Given the description of an element on the screen output the (x, y) to click on. 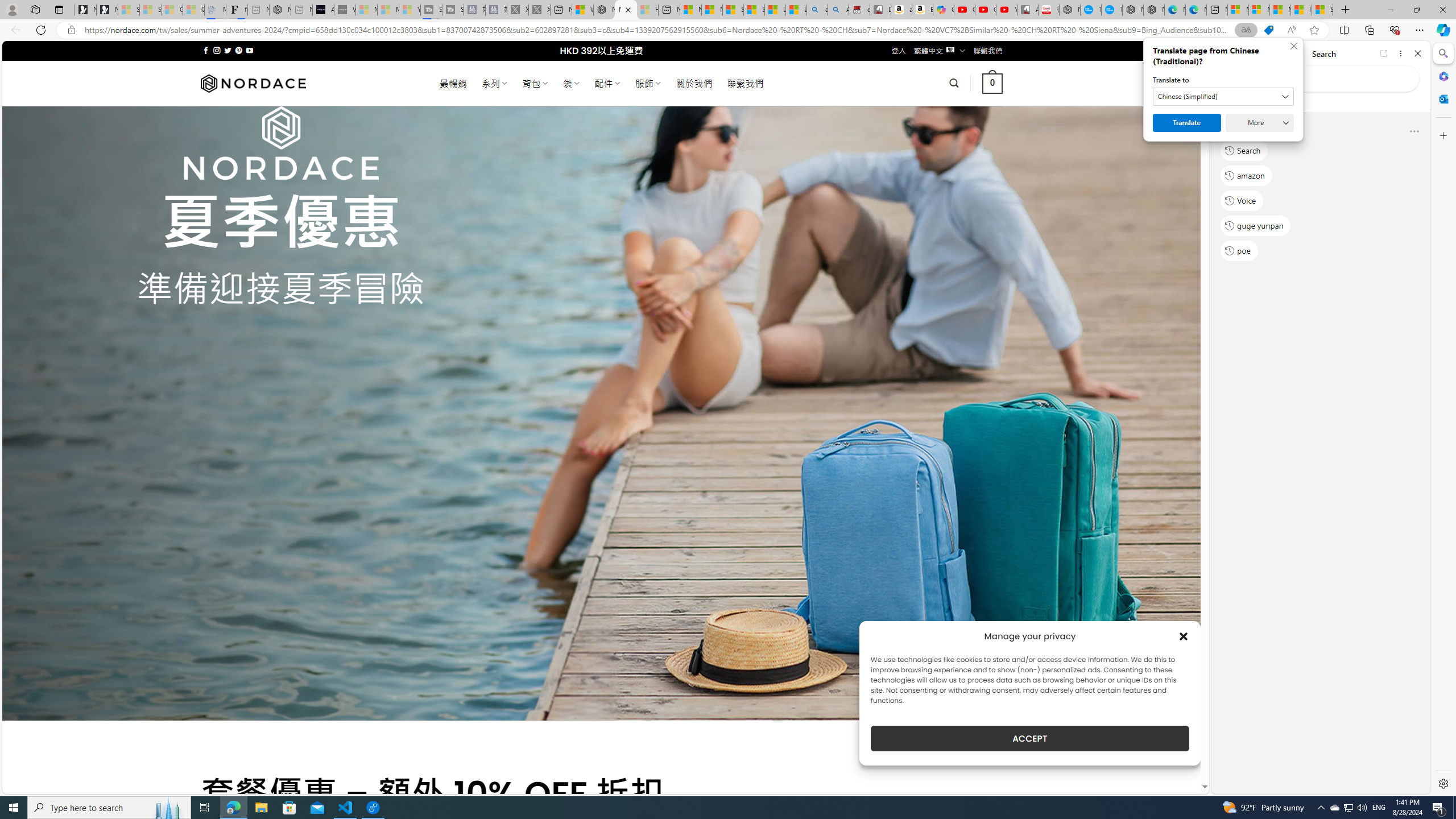
Copilot (943, 9)
Follow on Facebook (205, 50)
Nordace - My Account (1069, 9)
guge yunpan (1255, 225)
Side bar (1443, 418)
Outlook (1442, 98)
Forward (1242, 53)
